Given the description of an element on the screen output the (x, y) to click on. 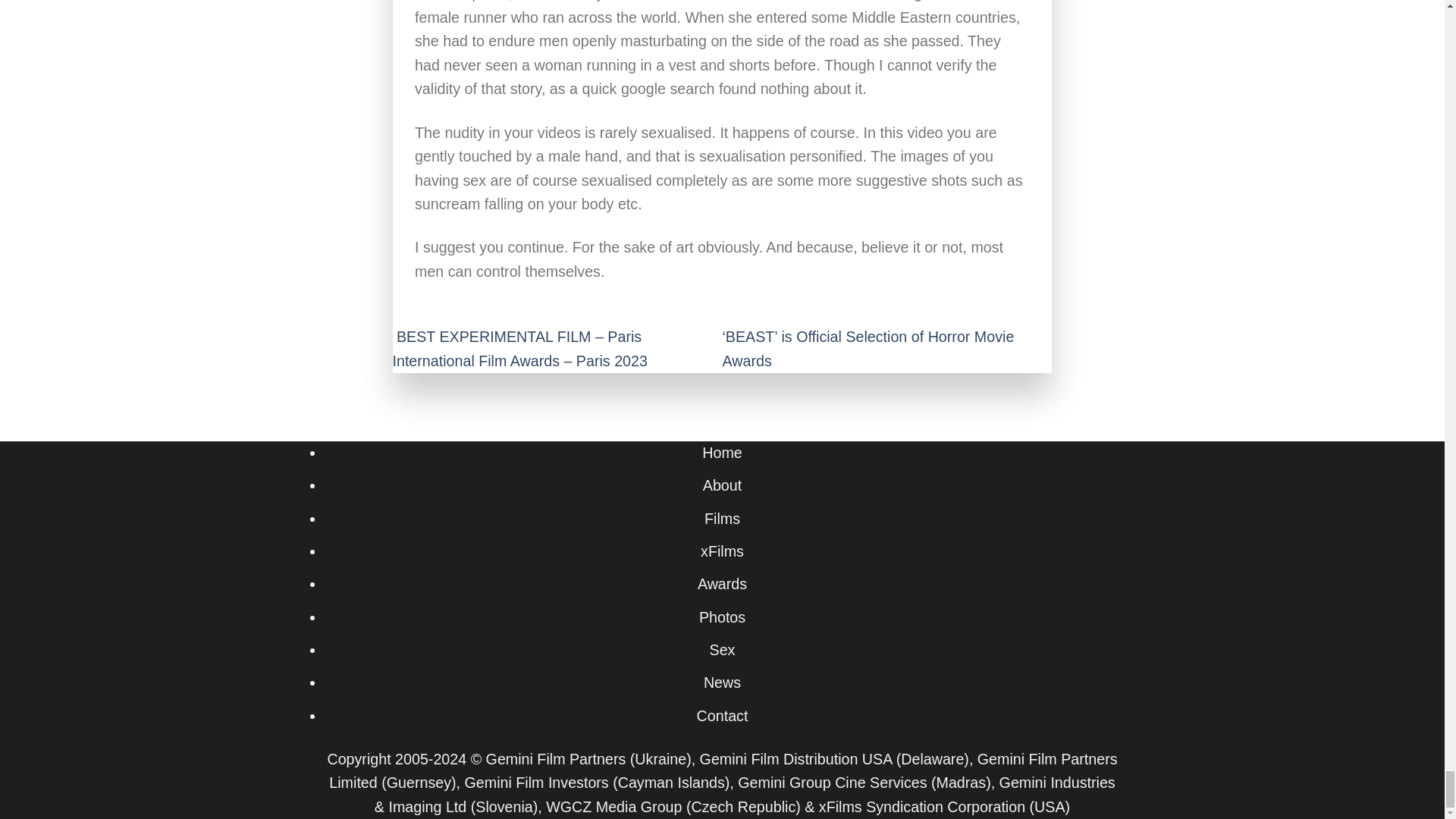
Home (721, 452)
Awards (721, 583)
Photos (721, 617)
Films (721, 518)
About (722, 484)
News (722, 682)
xFilms (722, 550)
Sex (722, 649)
Contact (722, 715)
